Given the description of an element on the screen output the (x, y) to click on. 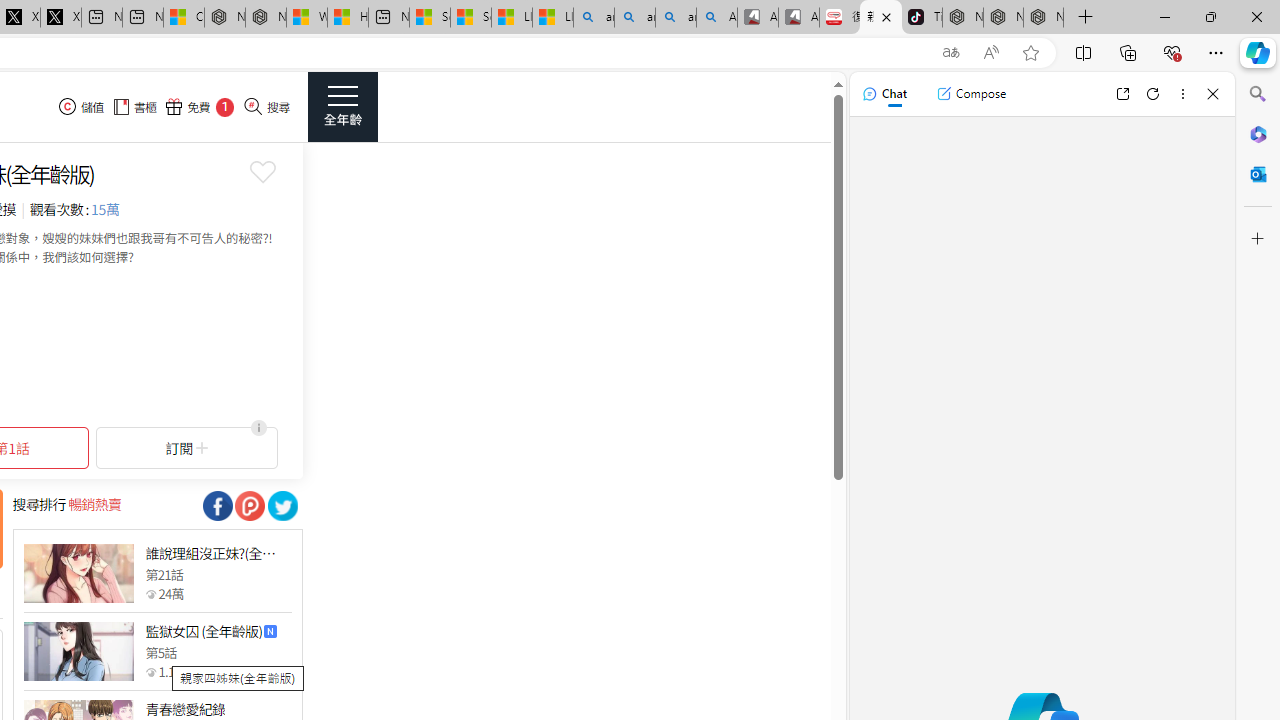
More options (1182, 93)
Class: epicon_starpoint (150, 671)
Search (1258, 94)
All Cubot phones (799, 17)
Chat (884, 93)
Read aloud this page (Ctrl+Shift+U) (991, 53)
Nordace - Siena Pro 15 Essential Set (1043, 17)
